Given the description of an element on the screen output the (x, y) to click on. 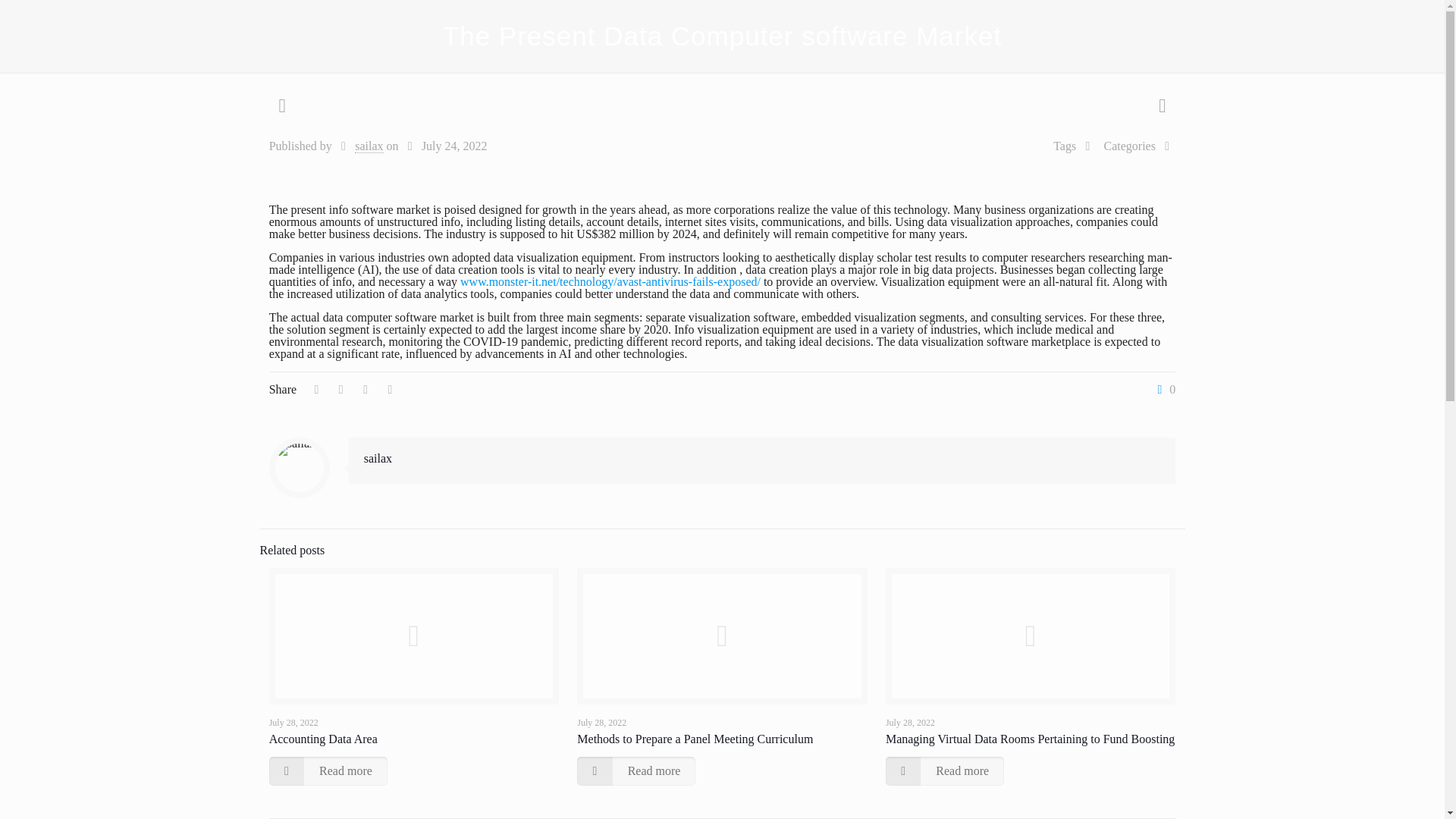
Read more (635, 770)
Read more (944, 770)
Managing Virtual Data Rooms Pertaining to Fund Boosting (1029, 738)
0 (1162, 389)
sailax (377, 458)
Accounting Data Area (323, 738)
sailax (368, 146)
Methods to Prepare a Panel Meeting Curriculum (694, 738)
Read more (328, 770)
